Given the description of an element on the screen output the (x, y) to click on. 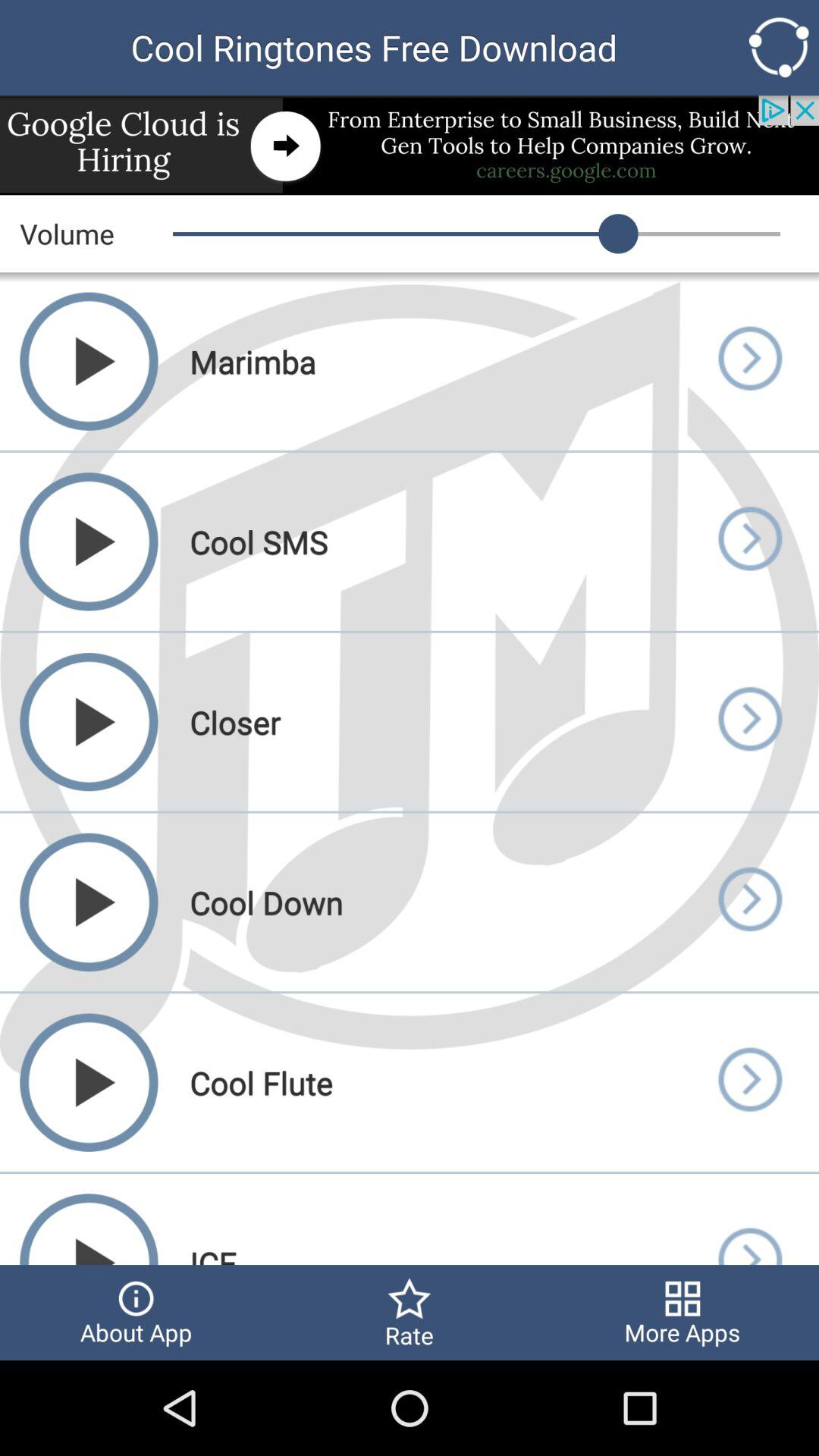
goto next (749, 722)
